Given the description of an element on the screen output the (x, y) to click on. 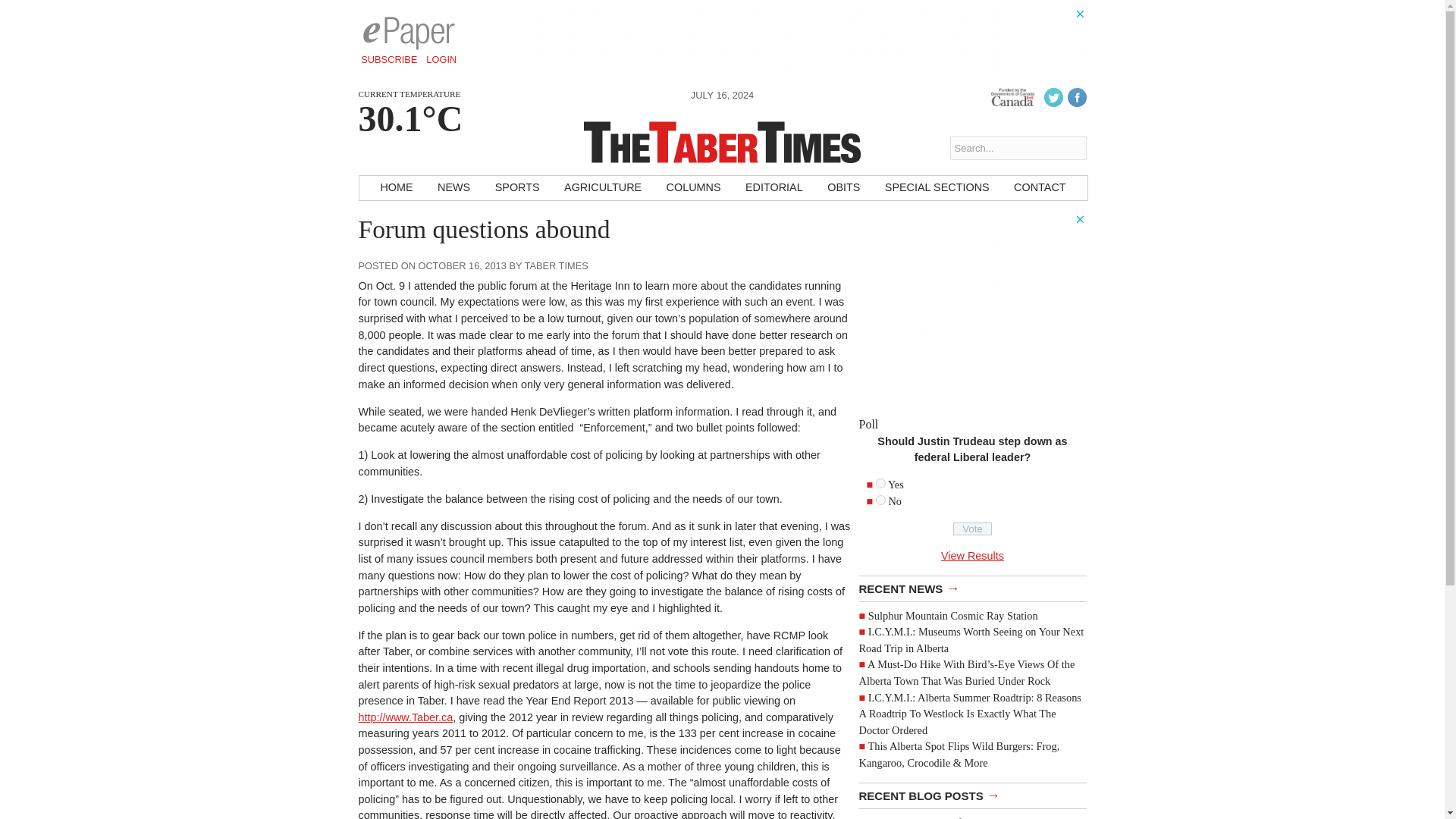
3rd party ad content (810, 41)
LOGIN (441, 58)
HOME (396, 187)
From the Archives of Western Newspapers (961, 817)
OBITS (843, 187)
AGRICULTURE (602, 187)
View Results (972, 555)
NEWS (453, 187)
SPECIAL SECTIONS (937, 187)
EDITORIAL (774, 187)
521 (880, 483)
522 (880, 500)
3rd party ad content (972, 307)
View Results Of This Poll (972, 555)
